Given the description of an element on the screen output the (x, y) to click on. 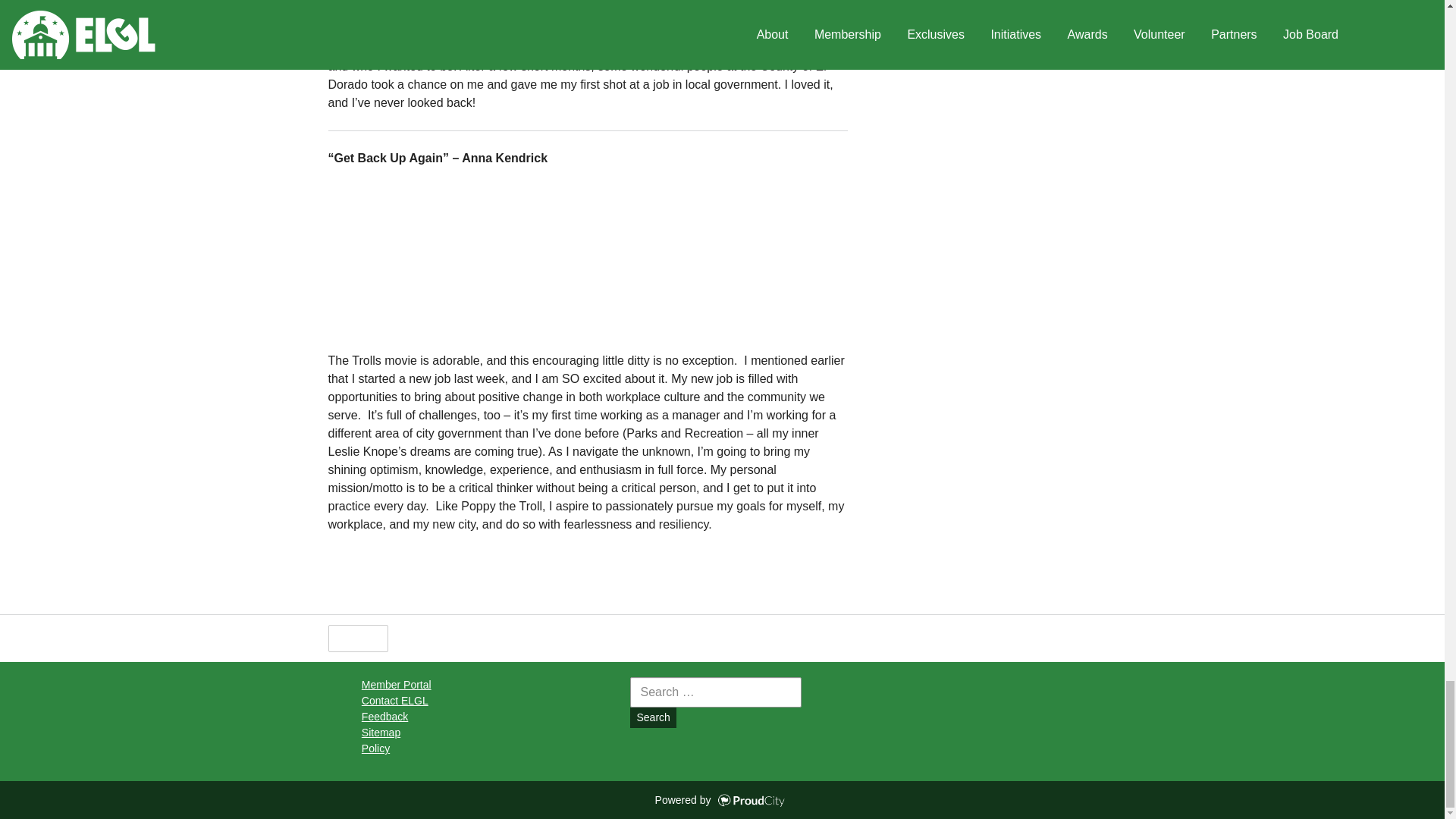
Search (652, 717)
Search (652, 717)
Share (416, 638)
Translate (529, 638)
Helpful (357, 637)
This page makes me proud (357, 637)
